Given the description of an element on the screen output the (x, y) to click on. 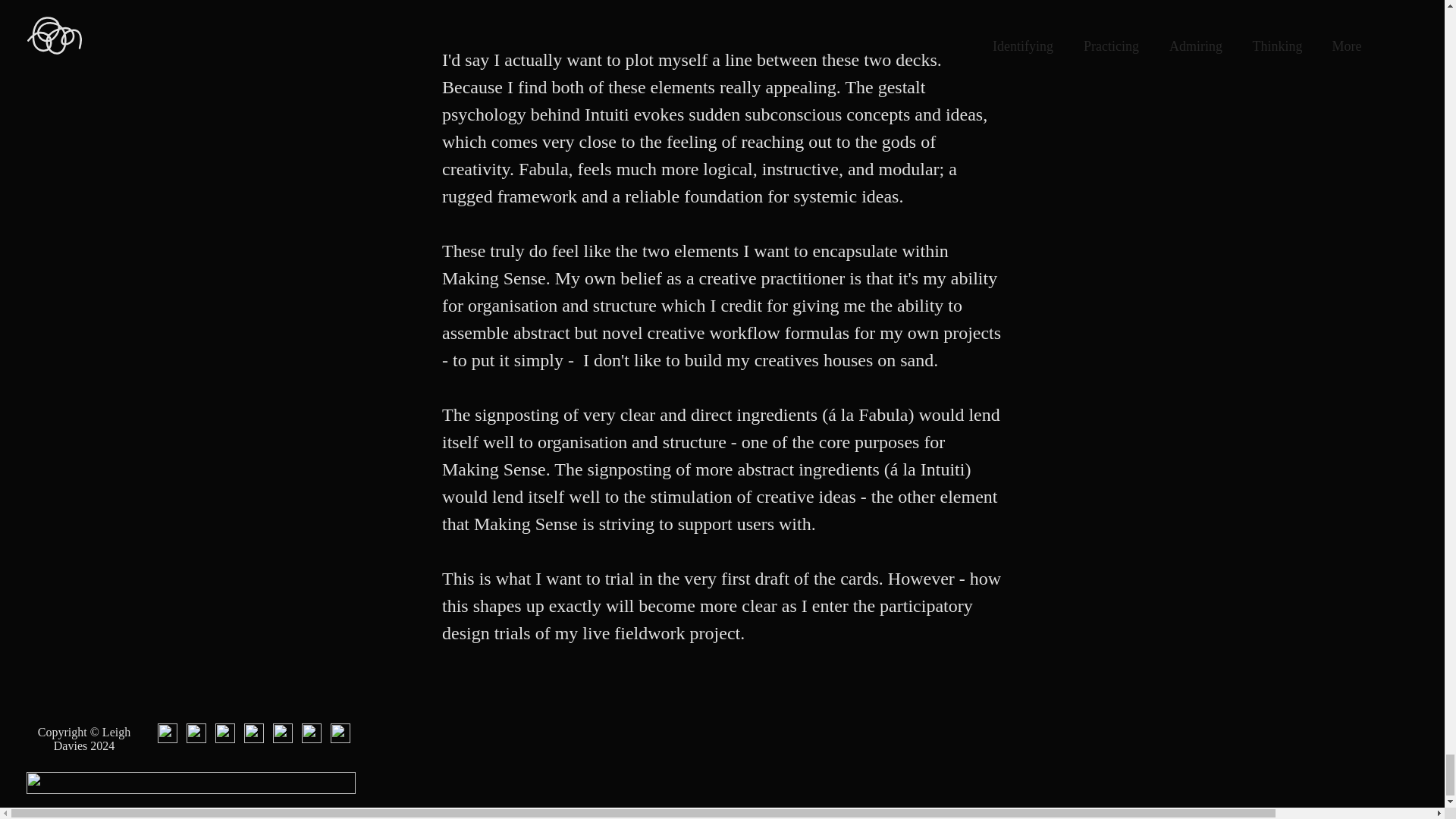
Lottery funding strip landscape white.jpg (190, 782)
Twitter (224, 732)
TikTok (167, 732)
Music on Spotify (311, 732)
Instagram (282, 732)
Music on Bandcamp (340, 732)
Facebook (253, 732)
Subscribe on Youtube (196, 732)
